Given the description of an element on the screen output the (x, y) to click on. 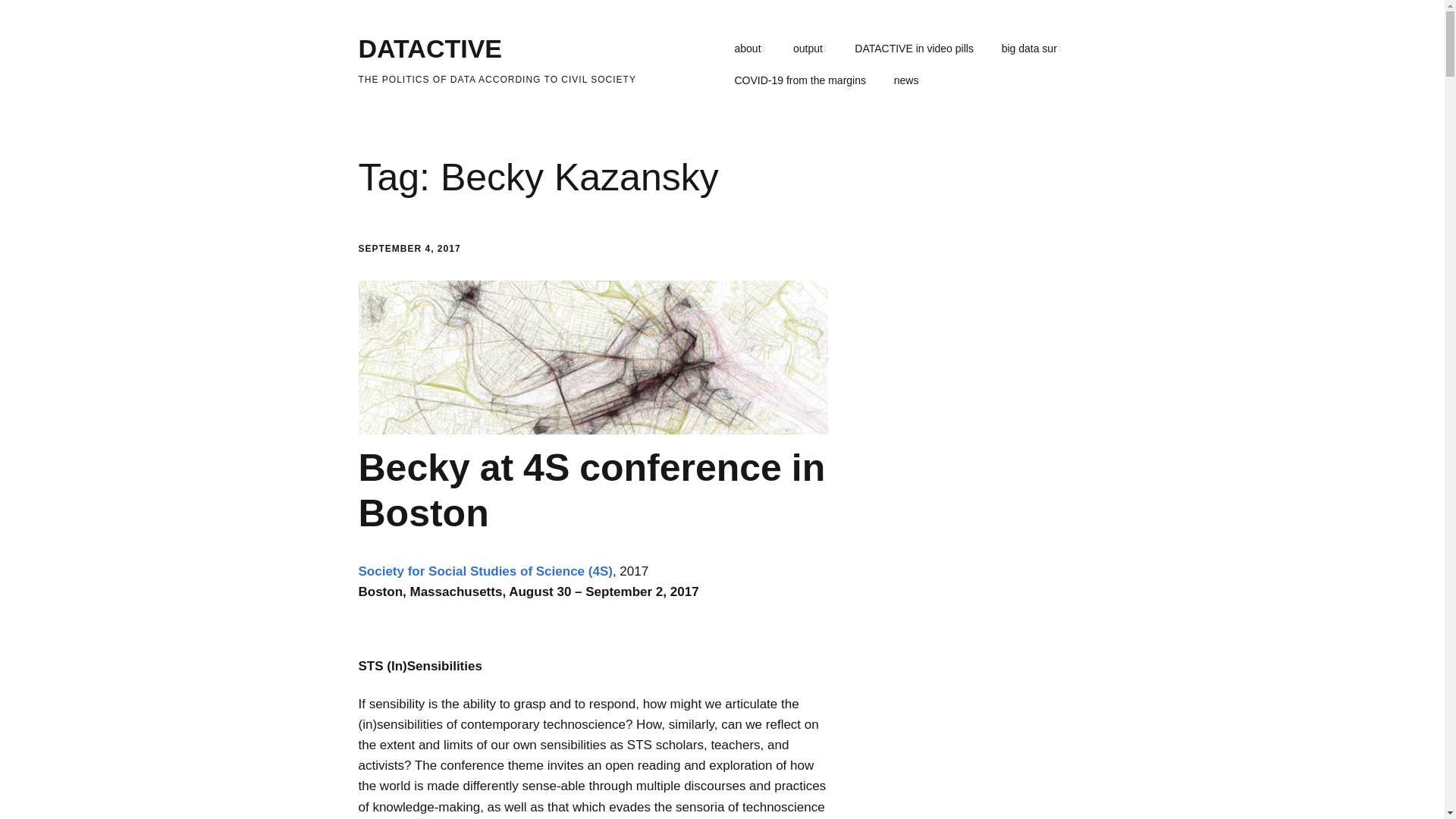
DATACTIVE (430, 48)
DATACTIVE in video pills (914, 49)
big data sur (1032, 49)
SEPTEMBER 4, 2017 (409, 248)
about (749, 49)
news (906, 81)
COVID-19 from the margins (799, 81)
Becky at 4S conference in Boston (591, 490)
output (810, 49)
